Given the description of an element on the screen output the (x, y) to click on. 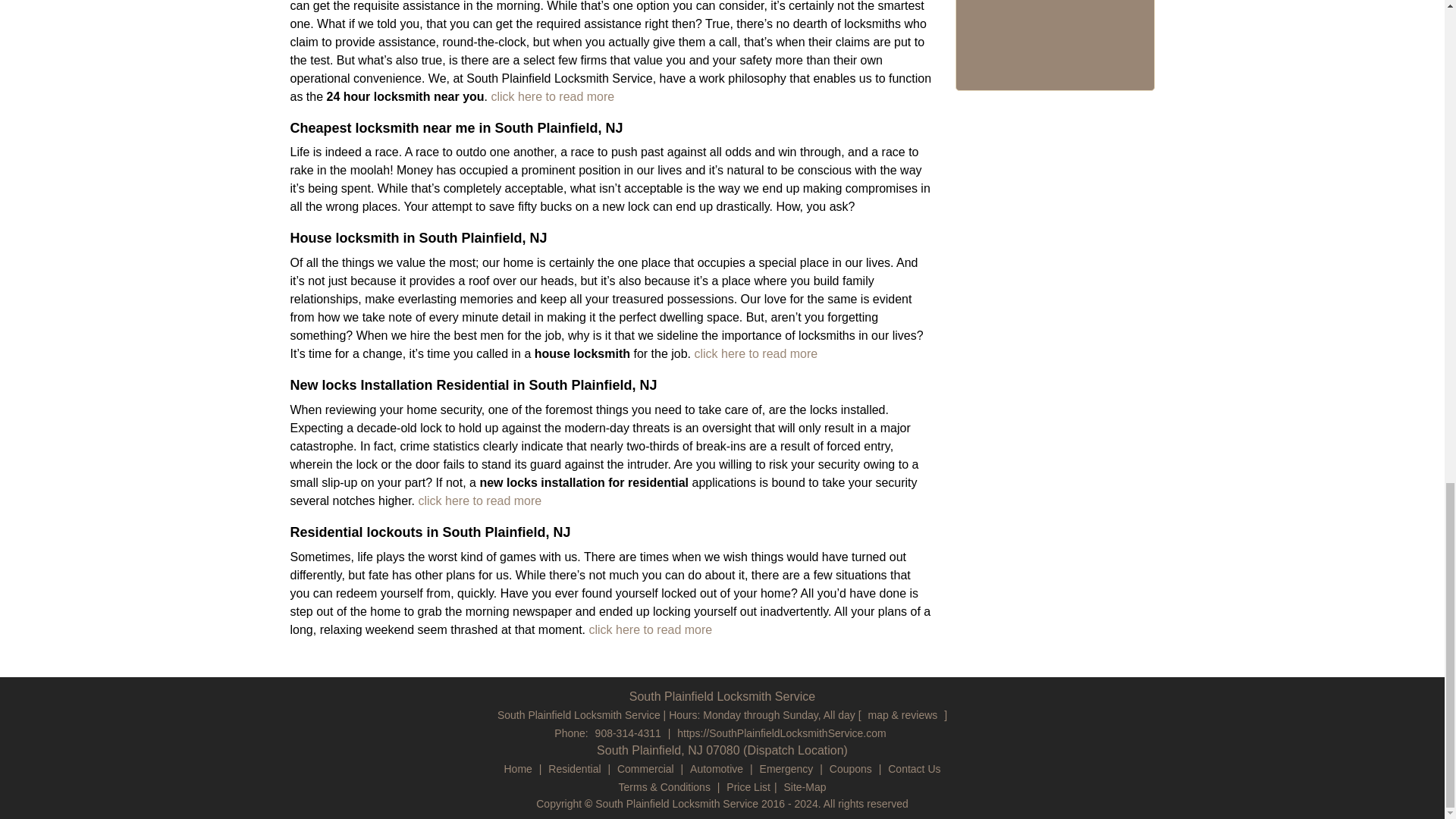
click here to read more (552, 96)
 click here to read more (477, 500)
click here to read more (755, 353)
 click here to read more (648, 629)
